Given the description of an element on the screen output the (x, y) to click on. 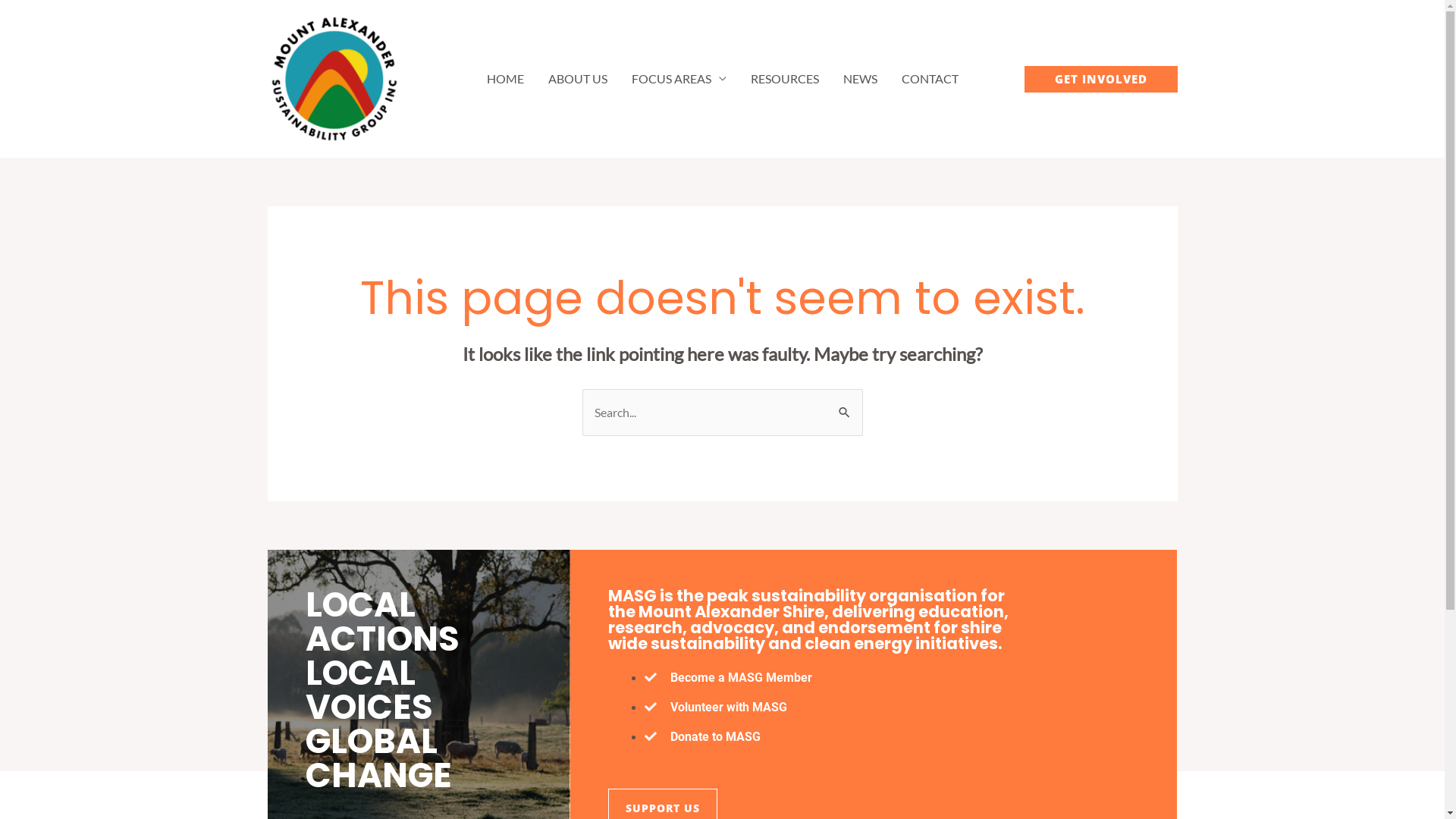
RESOURCES Element type: text (784, 78)
FOCUS AREAS Element type: text (677, 78)
ABOUT US Element type: text (576, 78)
HOME Element type: text (505, 78)
CONTACT Element type: text (928, 78)
NEWS Element type: text (860, 78)
Search Element type: text (845, 404)
GET INVOLVED Element type: text (1099, 78)
